Given the description of an element on the screen output the (x, y) to click on. 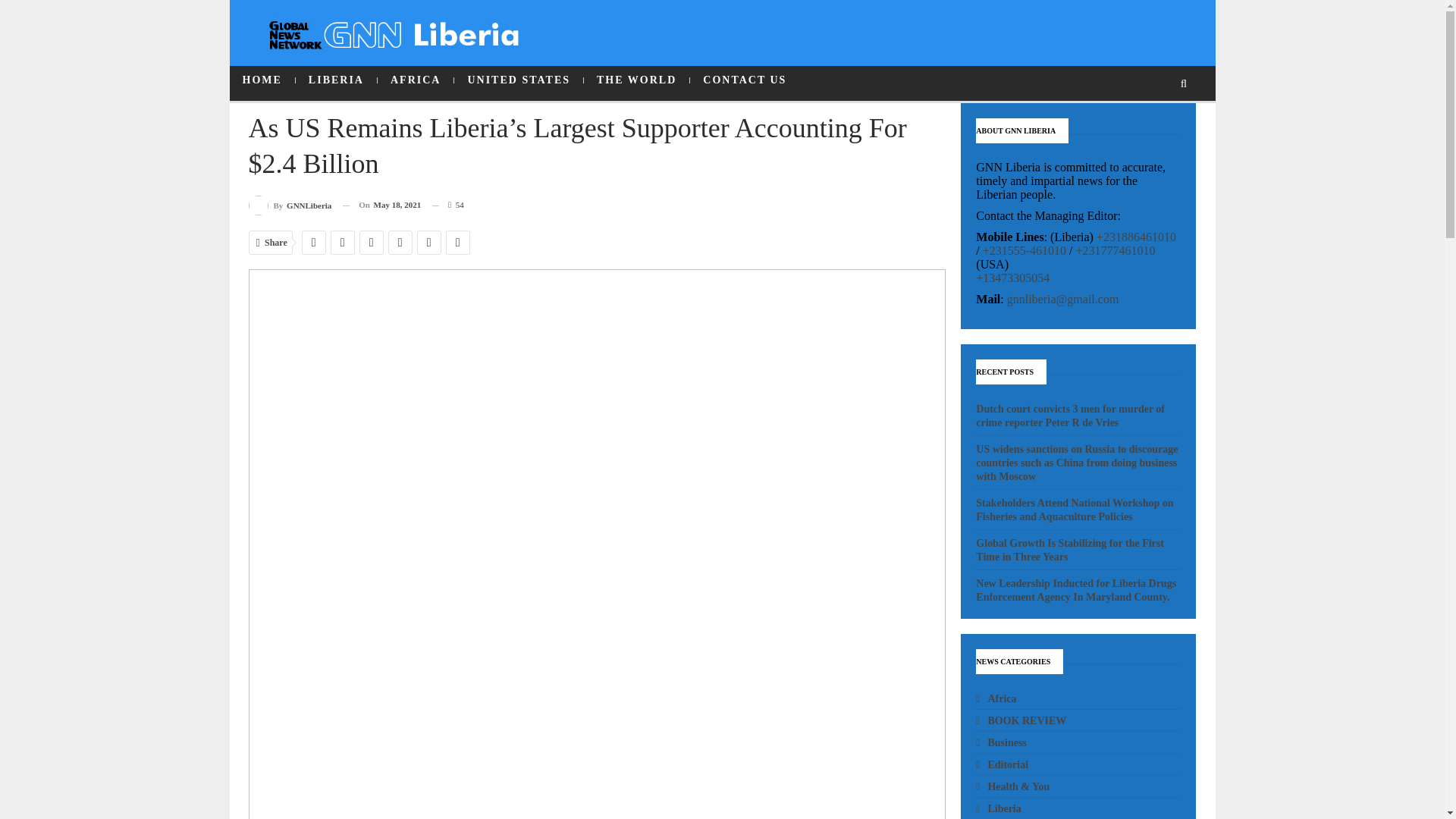
LIBERIA (336, 80)
UNITED STATES (518, 80)
CONTACT US (744, 80)
THE WORLD (635, 80)
AFRICA (414, 80)
HOME (261, 80)
By GNNLiberia (289, 204)
Browse Author Articles (289, 204)
